Given the description of an element on the screen output the (x, y) to click on. 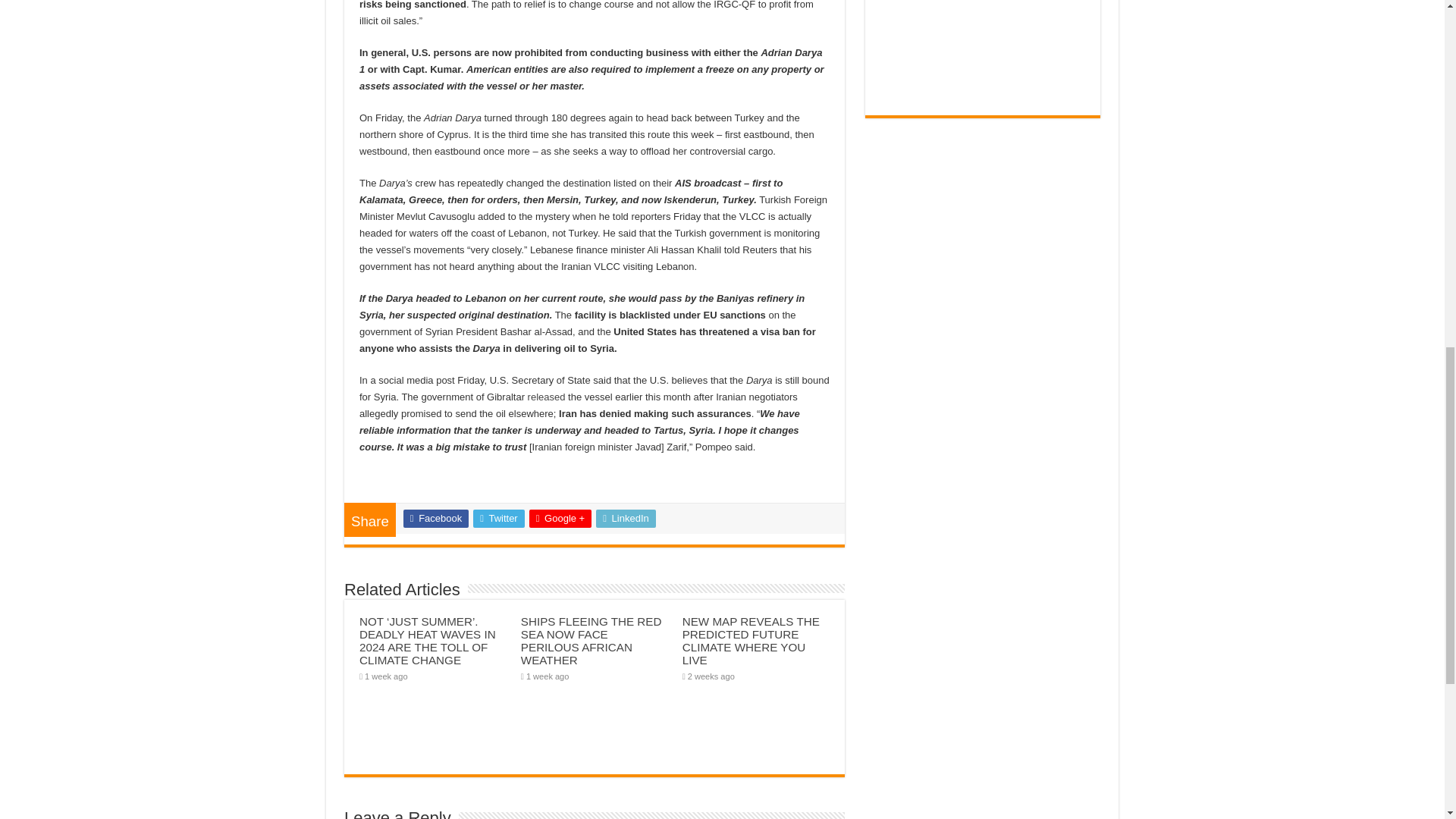
SHIPS FLEEING THE RED SEA NOW FACE PERILOUS AFRICAN WEATHER (591, 640)
Twitter (498, 518)
Facebook (435, 518)
LinkedIn (625, 518)
Scroll To Top (1421, 60)
NEW MAP REVEALS THE PREDICTED FUTURE CLIMATE WHERE YOU LIVE (750, 640)
released (546, 396)
